Given the description of an element on the screen output the (x, y) to click on. 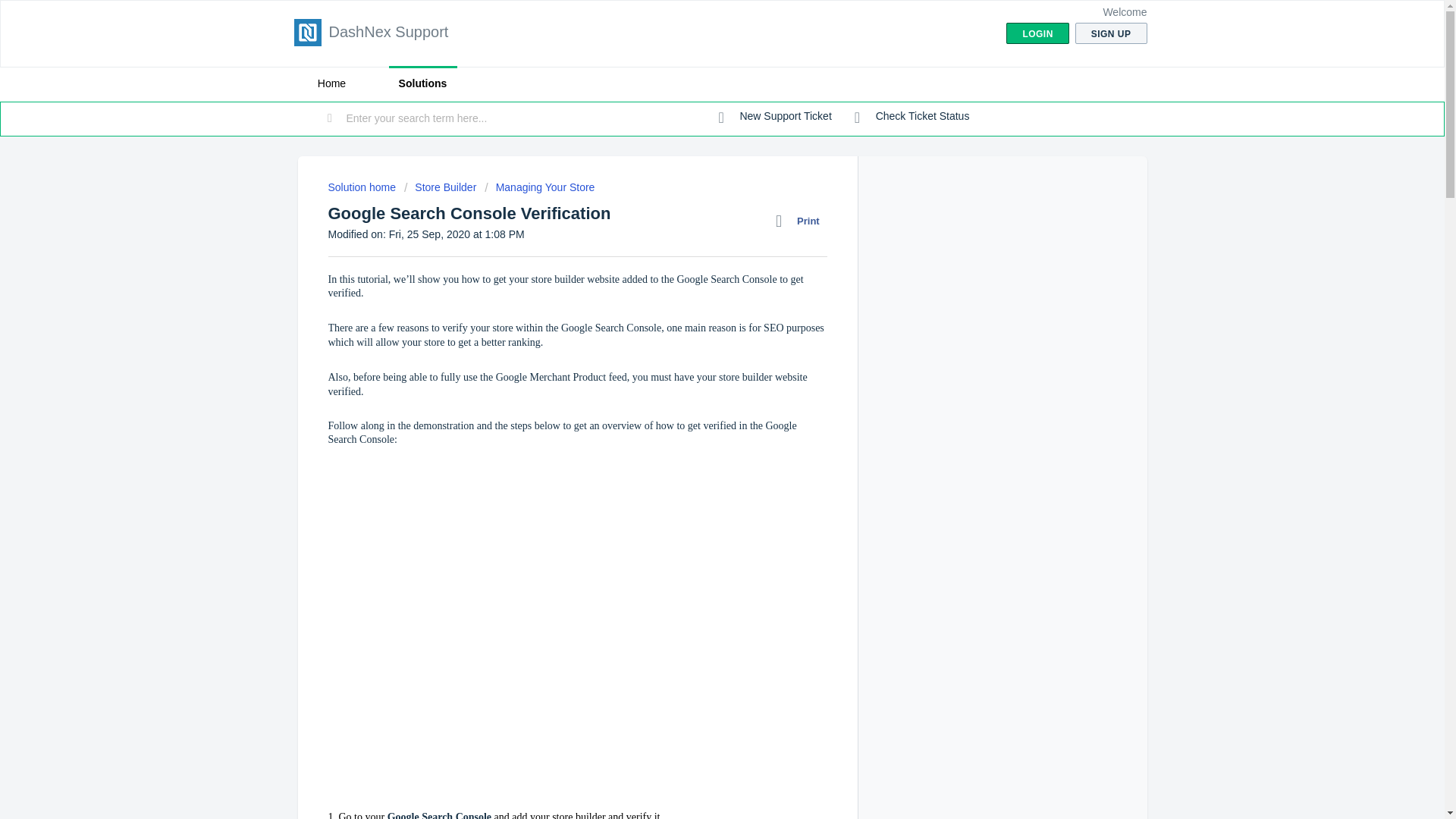
Solution home (362, 186)
Store Builder (440, 186)
Print this Article (801, 220)
Managing Your Store (539, 186)
SIGN UP (1111, 33)
Check ticket status (911, 116)
Check Ticket Status (911, 116)
Chat (1406, 779)
Print (801, 220)
LOGIN (1037, 33)
